Given the description of an element on the screen output the (x, y) to click on. 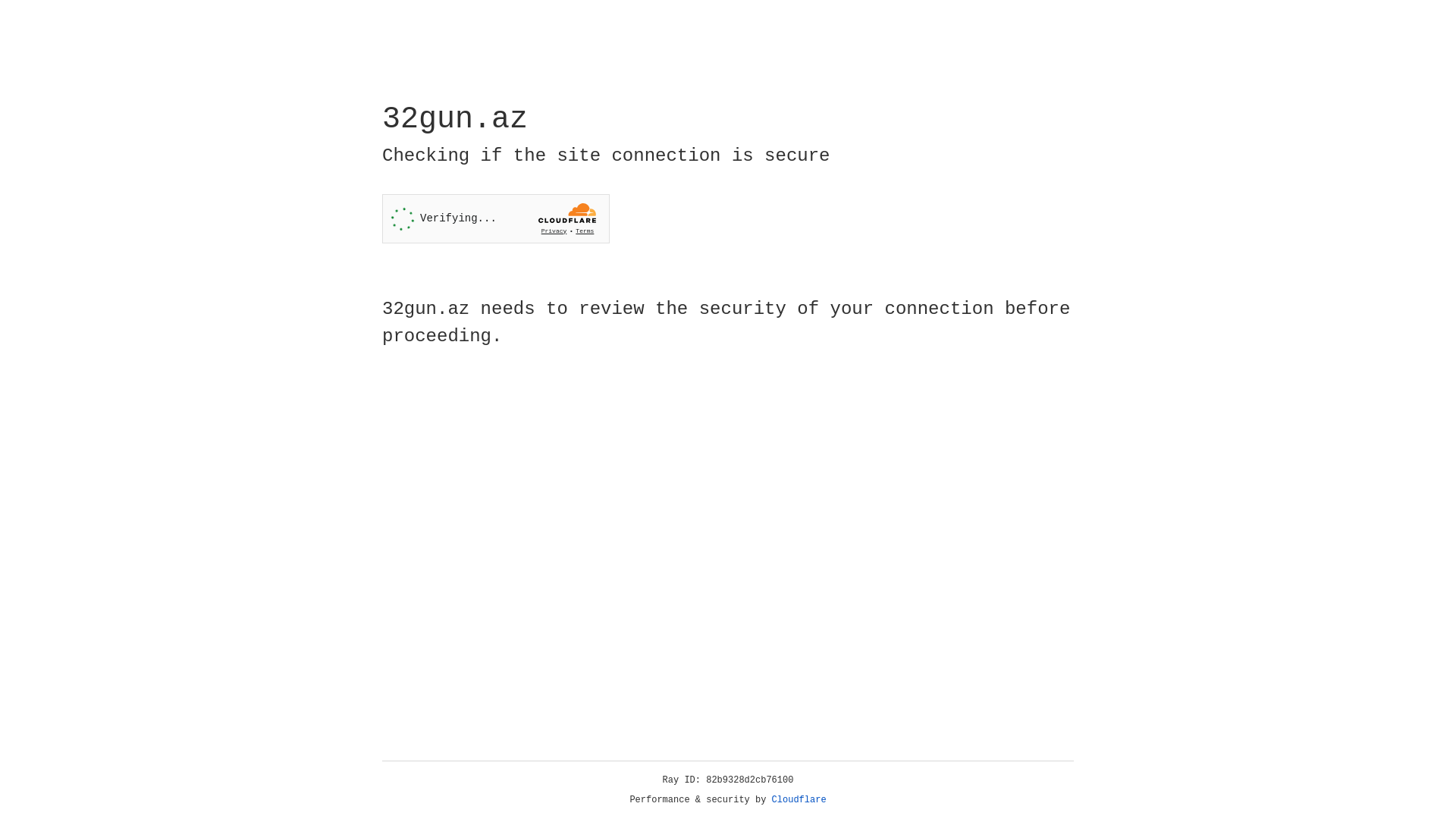
Widget containing a Cloudflare security challenge Element type: hover (495, 218)
Cloudflare Element type: text (798, 799)
